Given the description of an element on the screen output the (x, y) to click on. 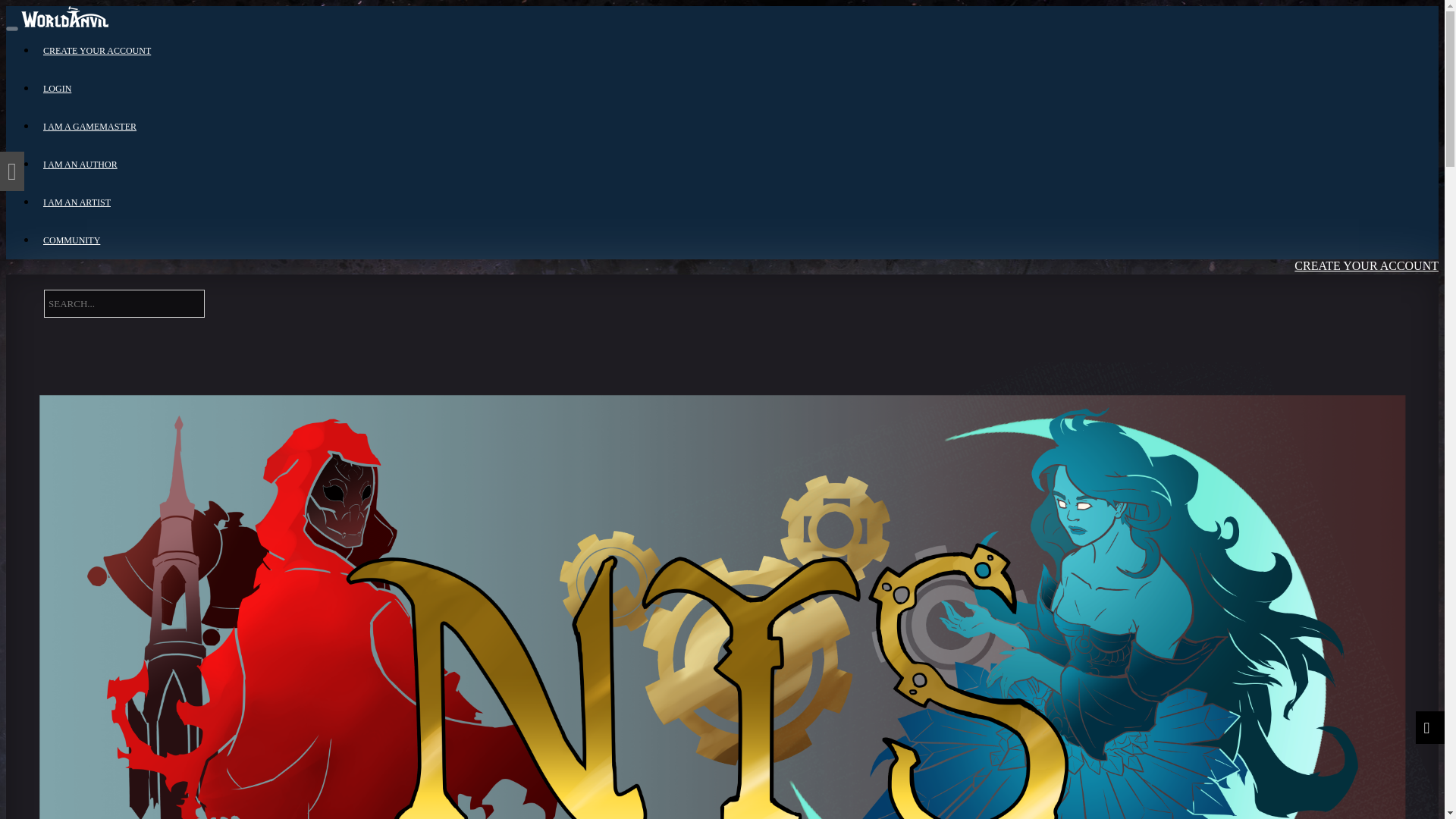
LOGIN (1313, 354)
LOGIN (57, 88)
LOGIN (1315, 329)
I AM AN ARTIST (76, 202)
Toggle Menu (11, 28)
CREATE YOUR ACCOUNT (96, 50)
COMMUNITY (71, 240)
I AM AN AUTHOR (79, 163)
I AM A GAMEMASTER (89, 126)
CREATE YOUR ACCOUNT (1354, 291)
